Given the description of an element on the screen output the (x, y) to click on. 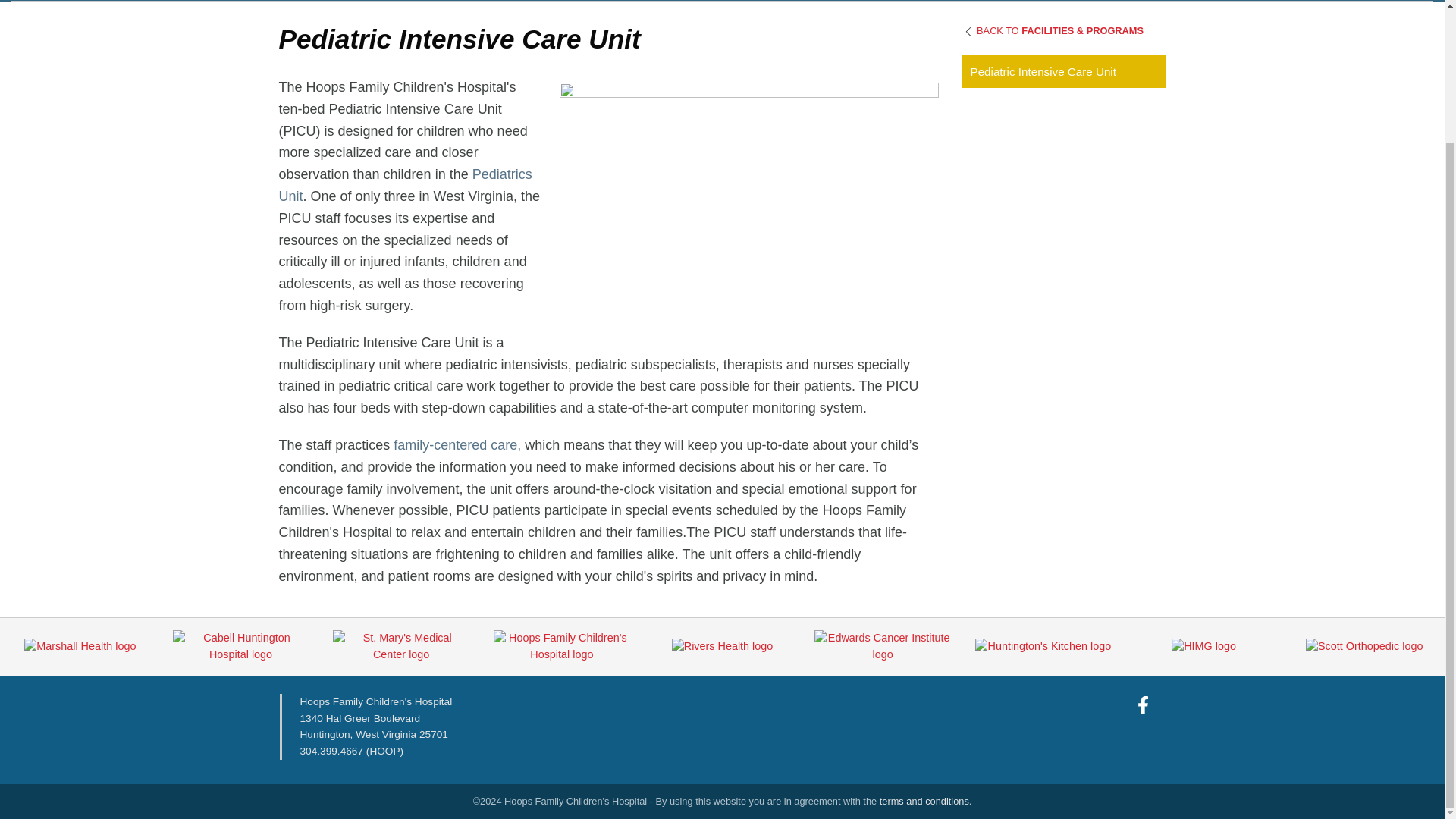
Facebook (1143, 704)
